Given the description of an element on the screen output the (x, y) to click on. 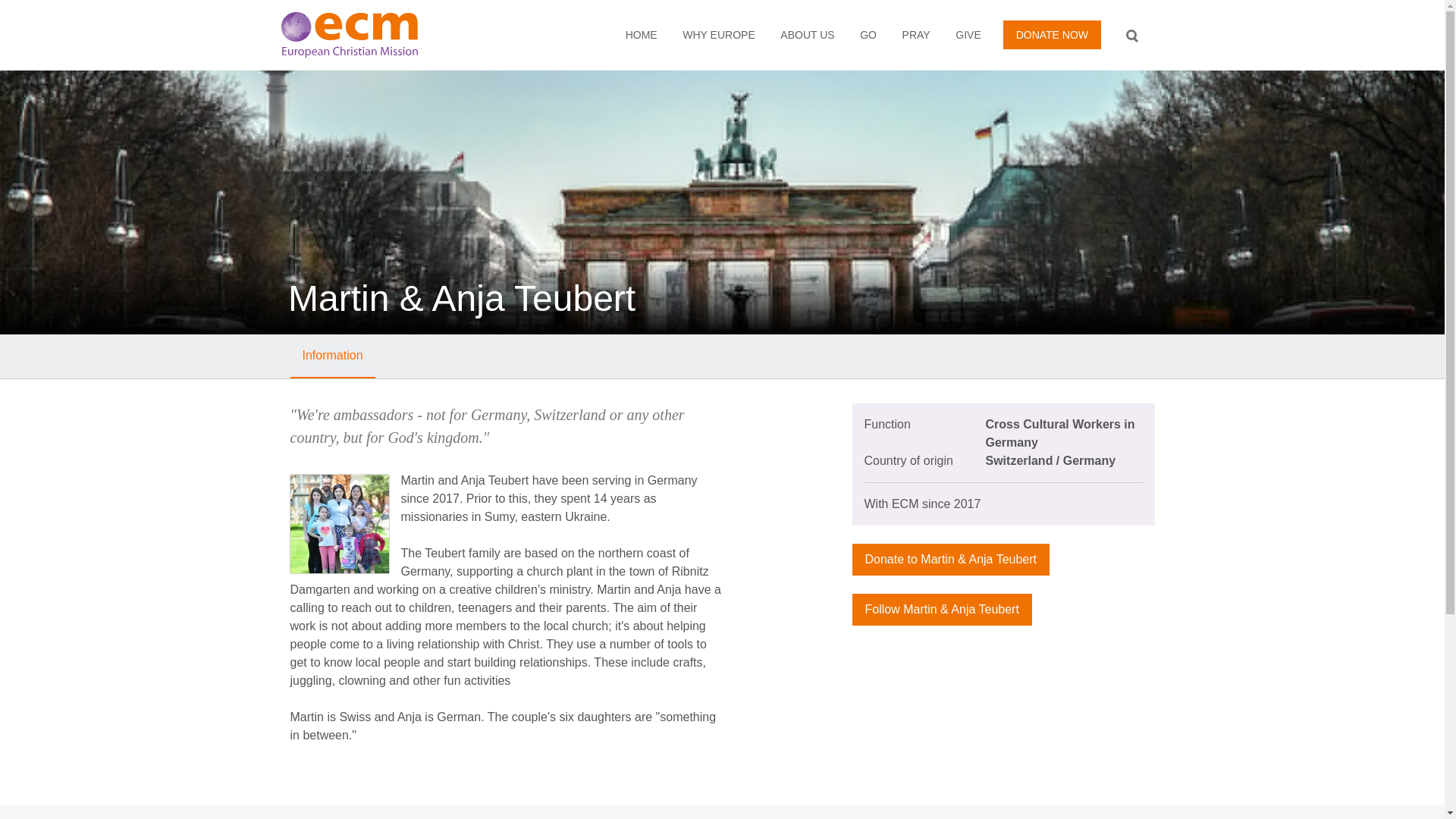
ABOUT US (807, 34)
Information (331, 356)
Back to the homepage (374, 34)
GIVE (968, 34)
GO (867, 34)
PRAY (916, 34)
HOME (640, 34)
DONATE NOW (1051, 34)
WHY EUROPE (718, 34)
